Given the description of an element on the screen output the (x, y) to click on. 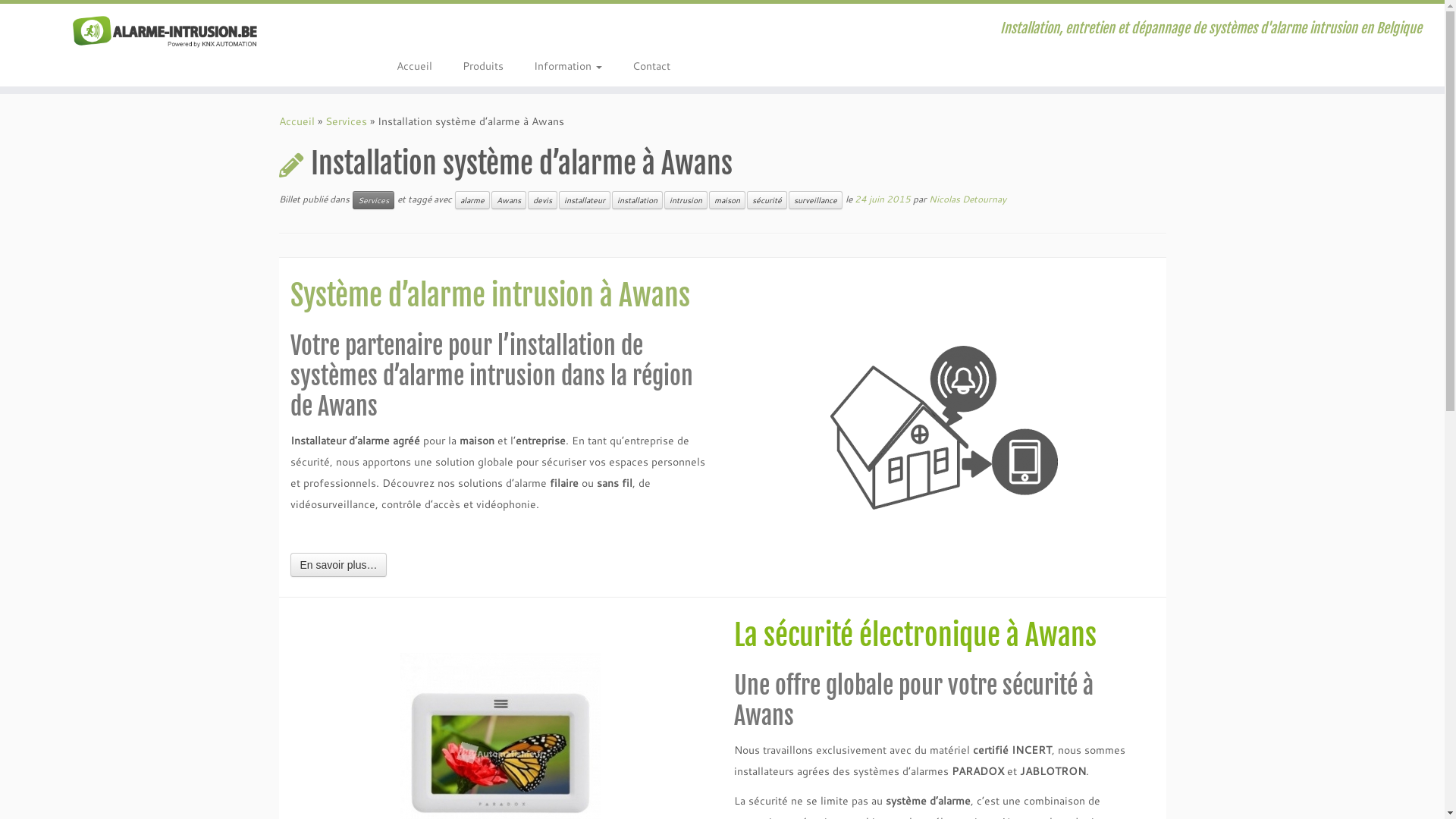
installateur Element type: text (583, 200)
devis Element type: text (542, 200)
24 juin 2015 Element type: text (881, 198)
alarme intrusion Element type: hover (944, 427)
Services Element type: text (372, 200)
Accueil Element type: text (296, 120)
Contact Element type: text (643, 65)
Nicolas Detournay Element type: text (966, 198)
intrusion Element type: text (685, 200)
alarme Element type: text (472, 200)
Information Element type: text (567, 65)
maison Element type: text (726, 200)
Services Element type: text (345, 120)
installation Element type: text (636, 200)
Produits Element type: text (482, 65)
surveillance Element type: text (815, 200)
Accueil Element type: text (414, 65)
Awans Element type: text (508, 200)
